Given the description of an element on the screen output the (x, y) to click on. 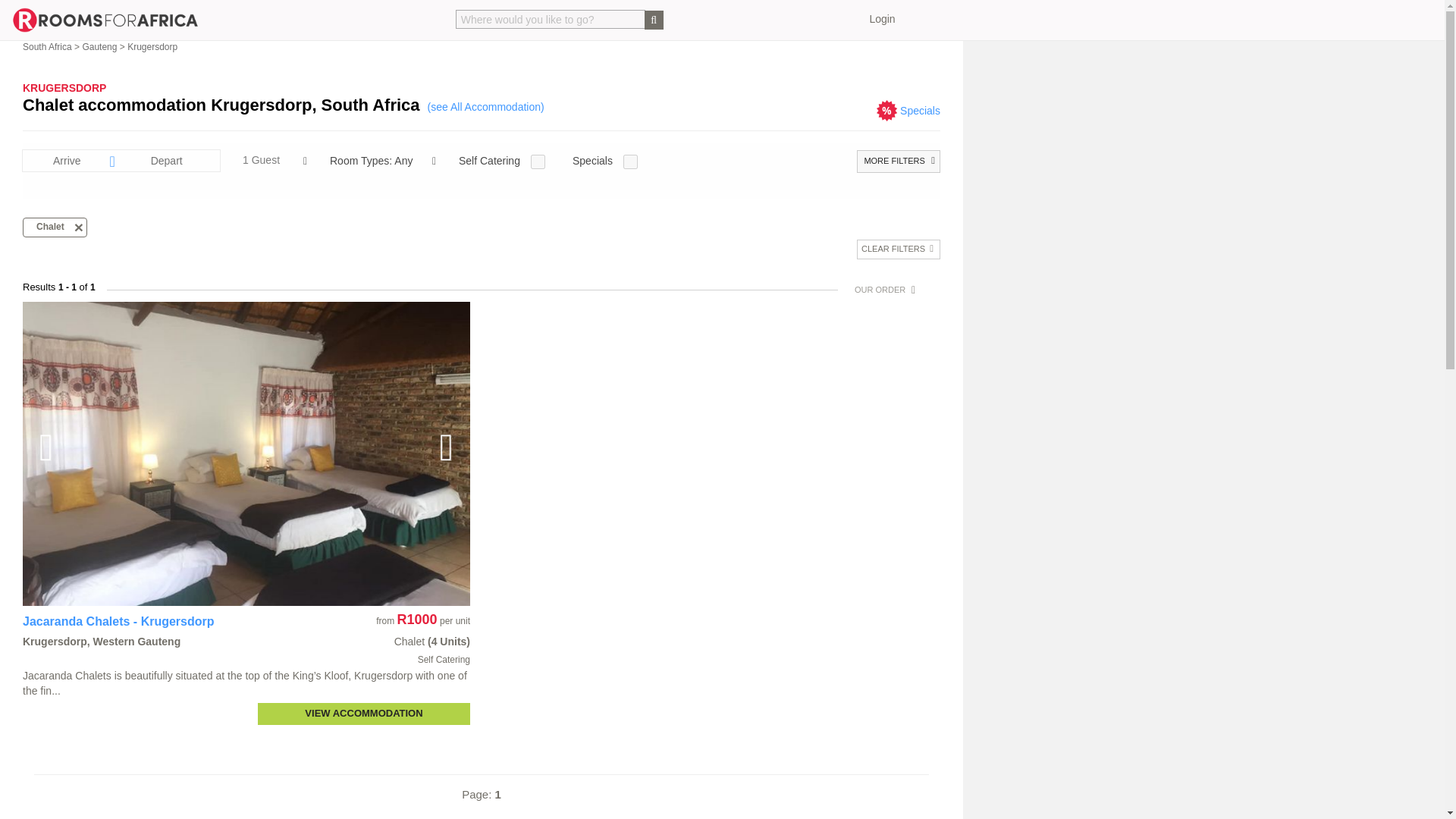
Specials (919, 110)
Krugersdorp (152, 46)
Gauteng (98, 46)
on (630, 161)
Jacaranda Chalets - Krugersdorp (118, 621)
South Africa (47, 46)
Login (882, 19)
on (537, 161)
